Given the description of an element on the screen output the (x, y) to click on. 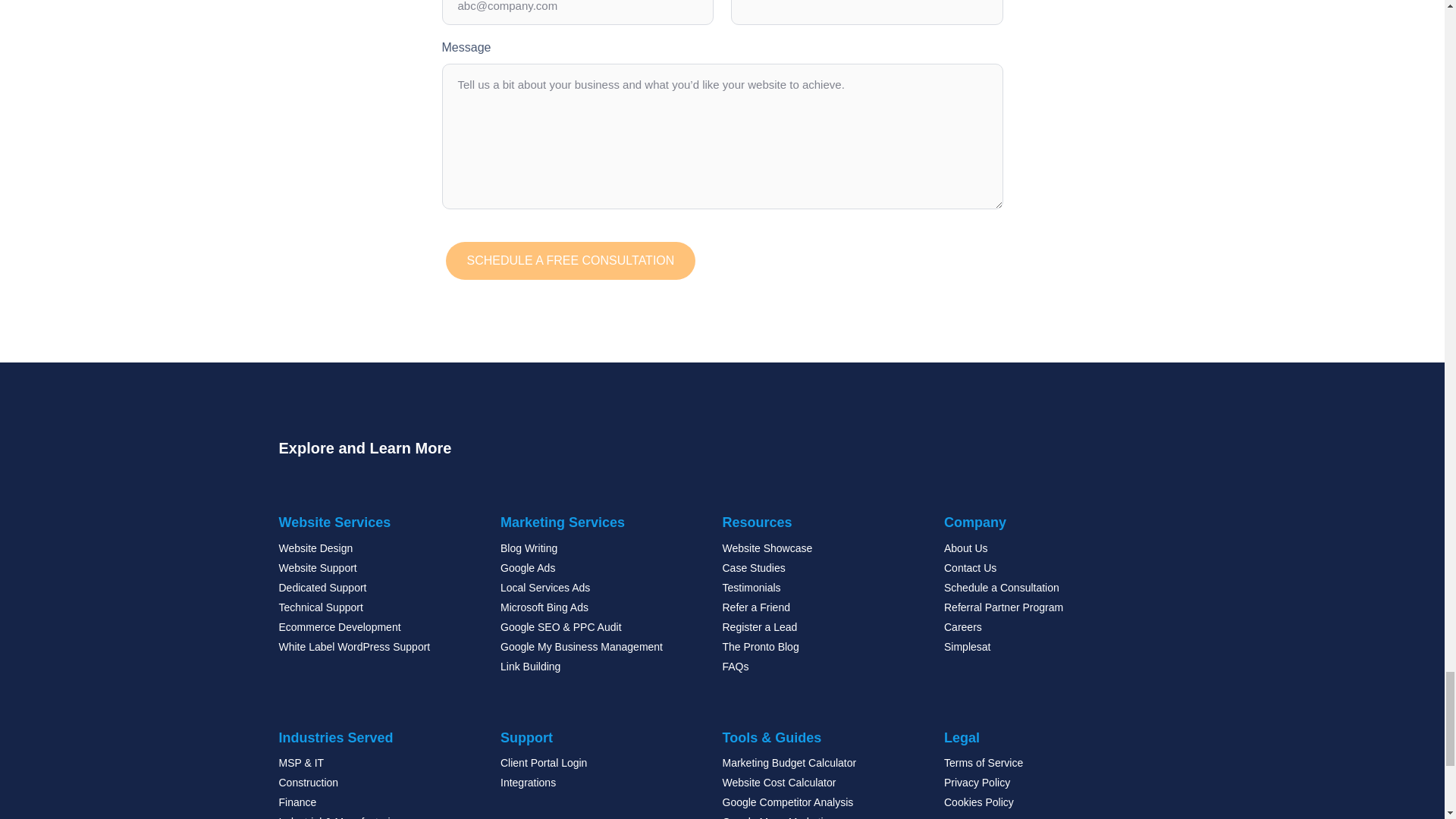
SCHEDULE A FREE CONSULTATION (570, 260)
